Given the description of an element on the screen output the (x, y) to click on. 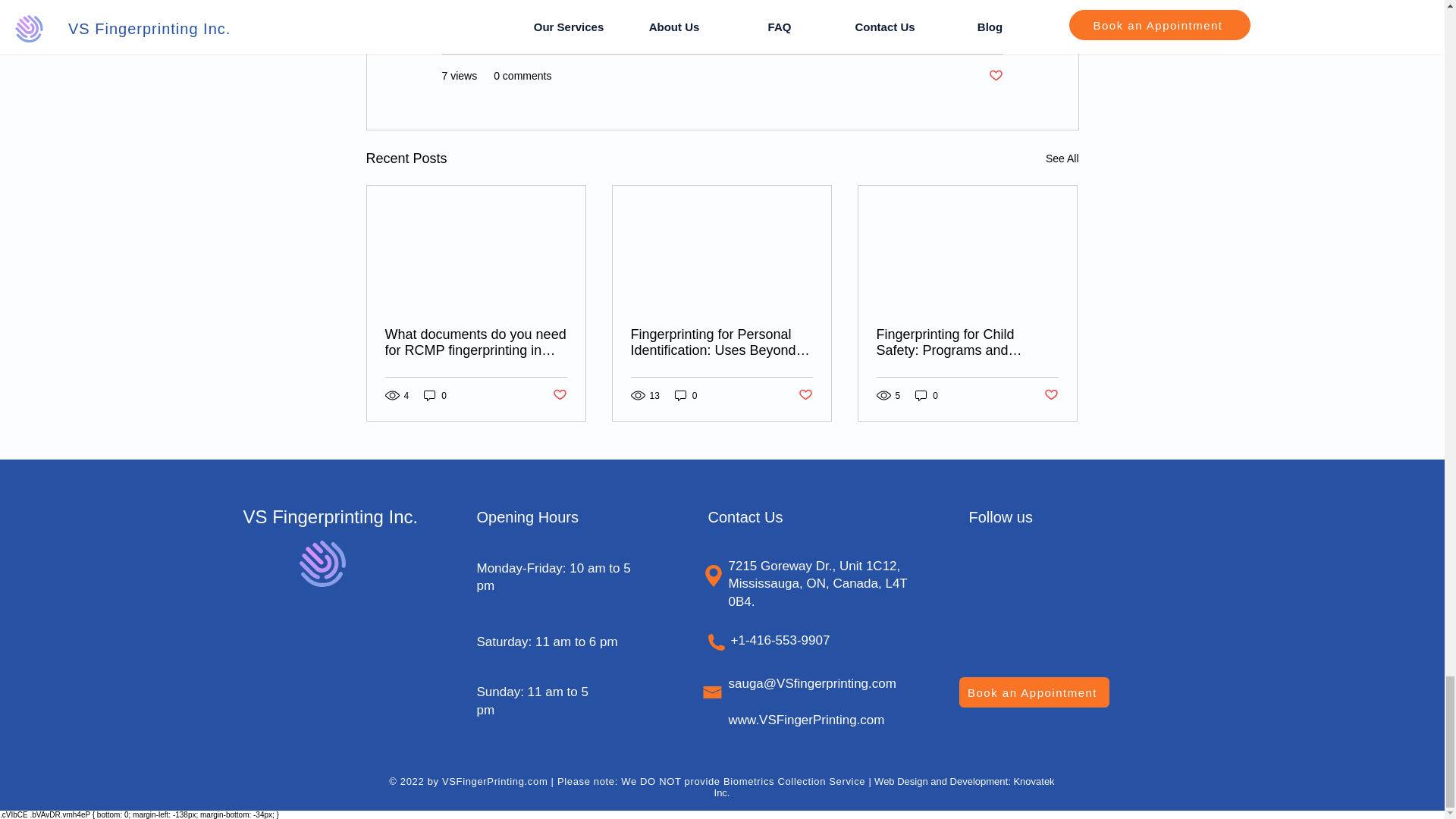
See All (1061, 157)
Post not marked as liked (558, 395)
0 (435, 395)
Post not marked as liked (995, 75)
